Given the description of an element on the screen output the (x, y) to click on. 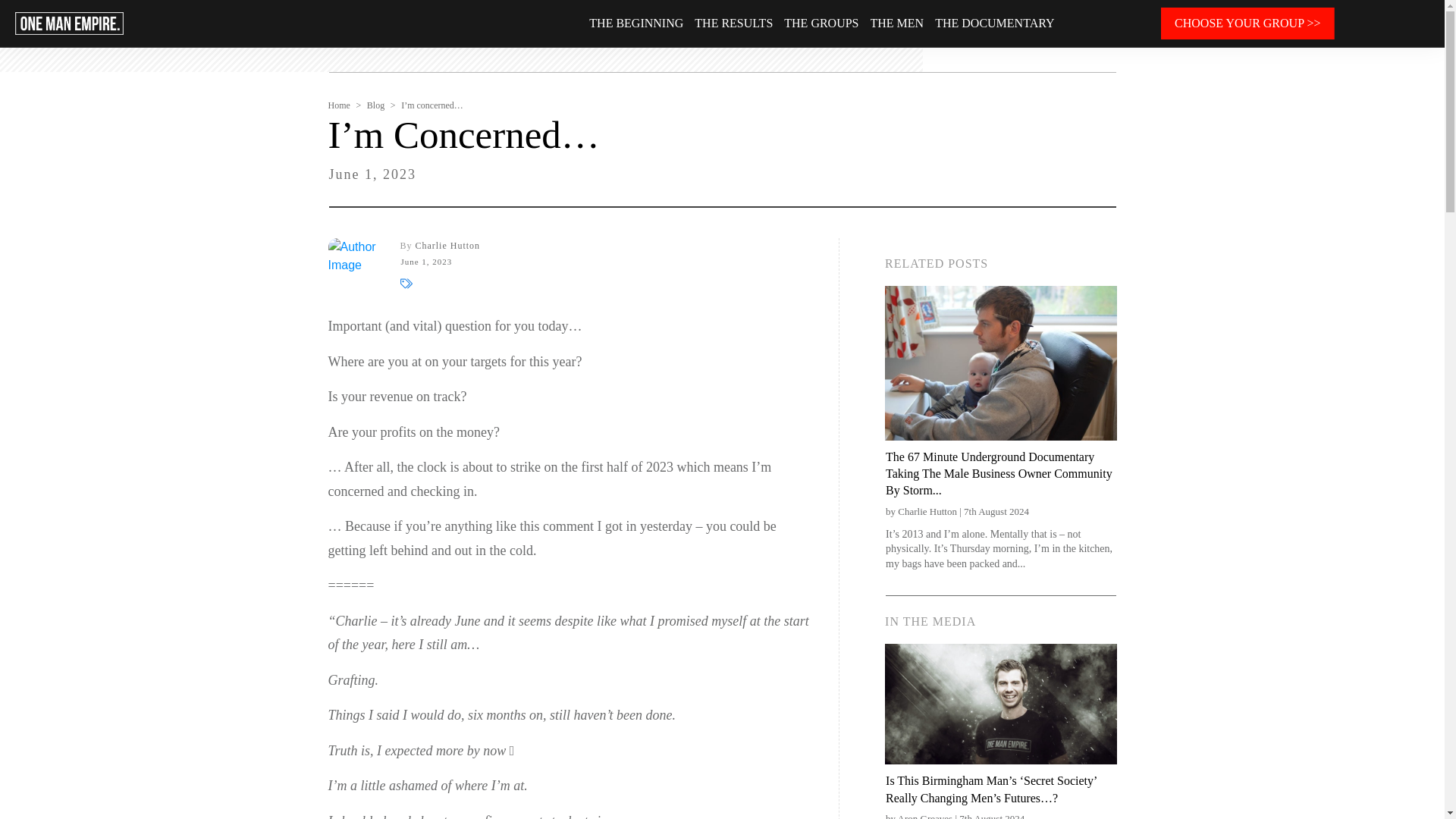
Home (338, 105)
THE DOCUMENTARY (994, 23)
THE RESULTS (733, 23)
Blog (375, 105)
THE BEGINNING (635, 23)
undefined (354, 264)
THE MEN (897, 23)
THE GROUPS (821, 23)
SP-Post-Head (1000, 703)
